Given the description of an element on the screen output the (x, y) to click on. 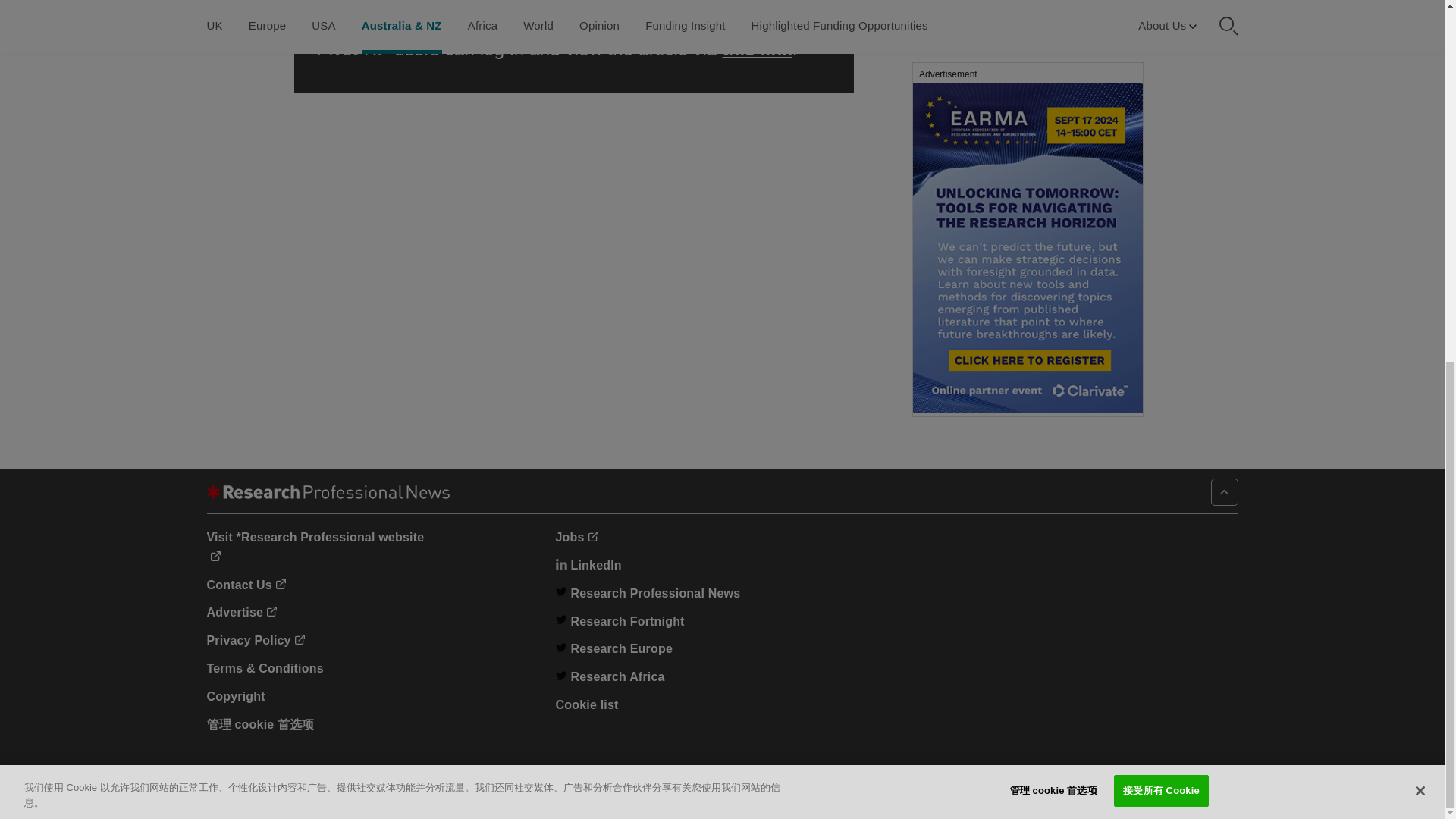
Advertise (241, 612)
Privacy Policy (255, 640)
Contact Us (245, 584)
Manage cookies (260, 724)
this link (757, 48)
this link (352, 5)
Copyright (235, 696)
3rd party ad content (1026, 24)
